Given the description of an element on the screen output the (x, y) to click on. 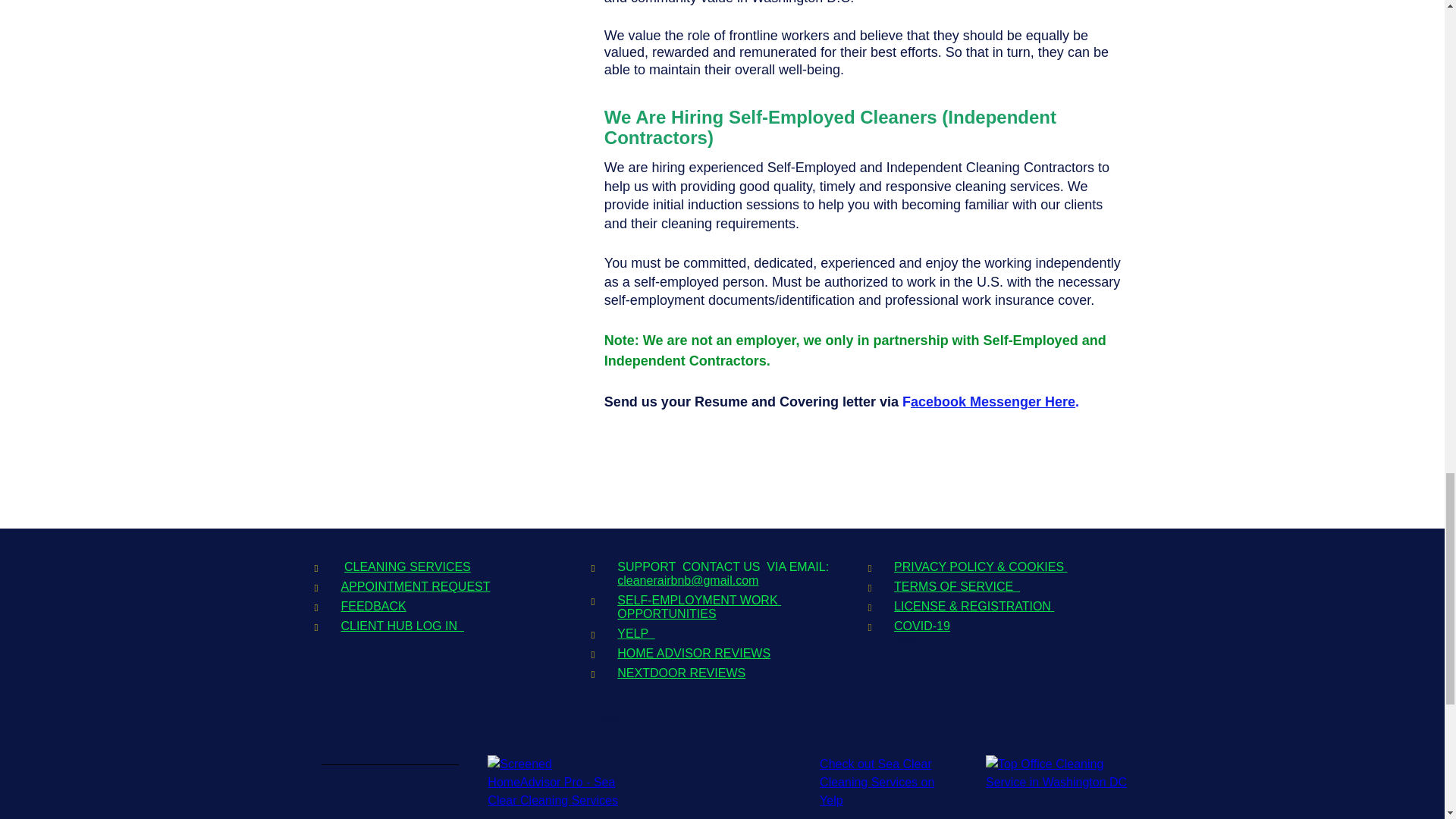
SELF-EMPLOYMENT WORK  (698, 599)
acebook Messenger Here (993, 401)
Check out Sea Clear Cleaning Services on Yelp (876, 780)
YELP   (636, 633)
FEEDBACK (373, 605)
CLEANING SERVICES (406, 566)
COVID-19 (921, 625)
OPPORTUNITIES (666, 613)
APPOINTMENT REQUEST (414, 585)
NEXTDOOR REVIEWS (681, 672)
HOME ADVISOR REVIEWS (693, 653)
CLIENT HUB LOG IN   (401, 625)
